Given the description of an element on the screen output the (x, y) to click on. 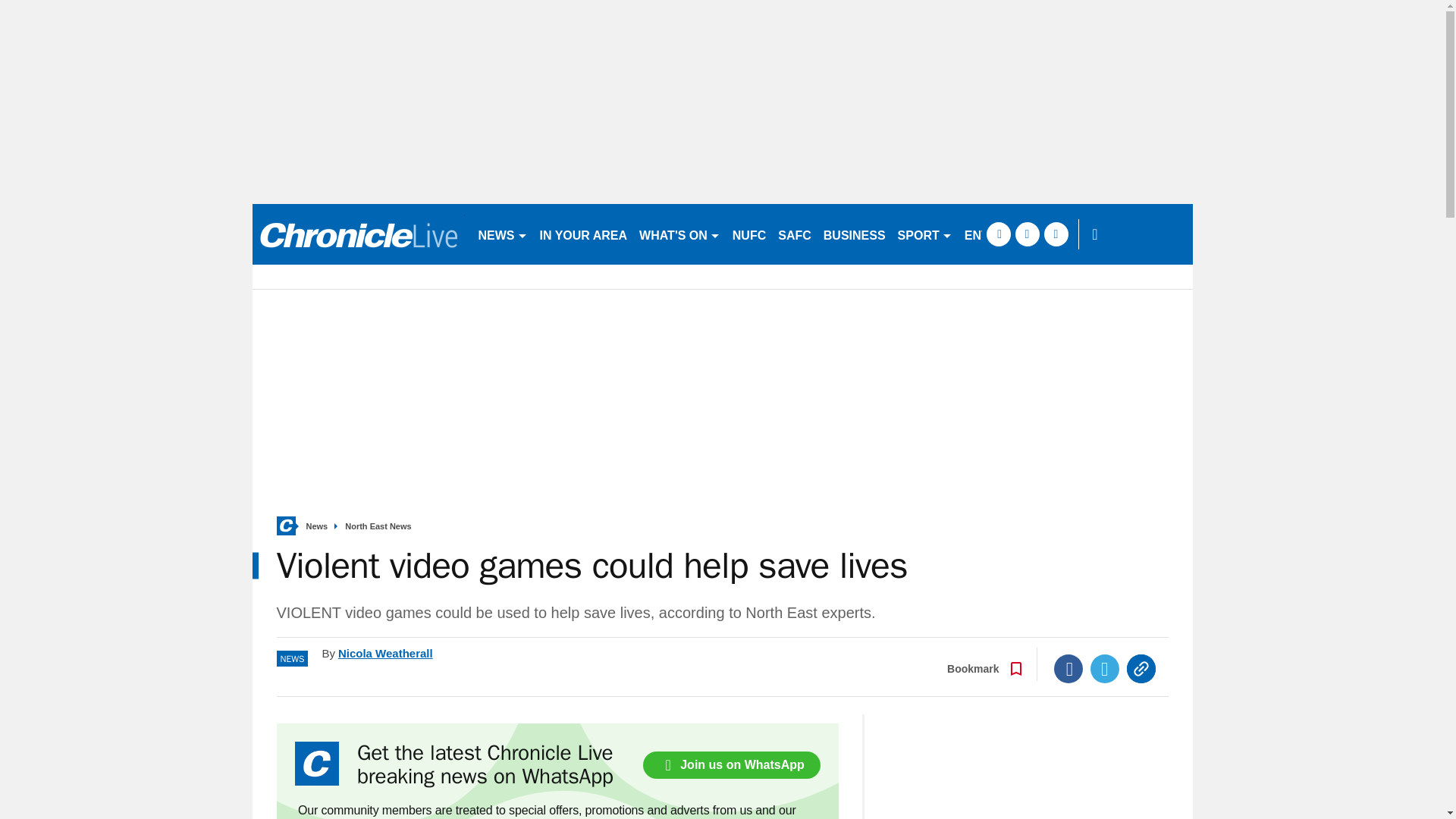
NEWS (501, 233)
Facebook (1068, 668)
nechronicle (357, 233)
twitter (1026, 233)
BUSINESS (853, 233)
Twitter (1104, 668)
facebook (997, 233)
instagram (1055, 233)
SPORT (924, 233)
IN YOUR AREA (583, 233)
WHAT'S ON (679, 233)
